Given the description of an element on the screen output the (x, y) to click on. 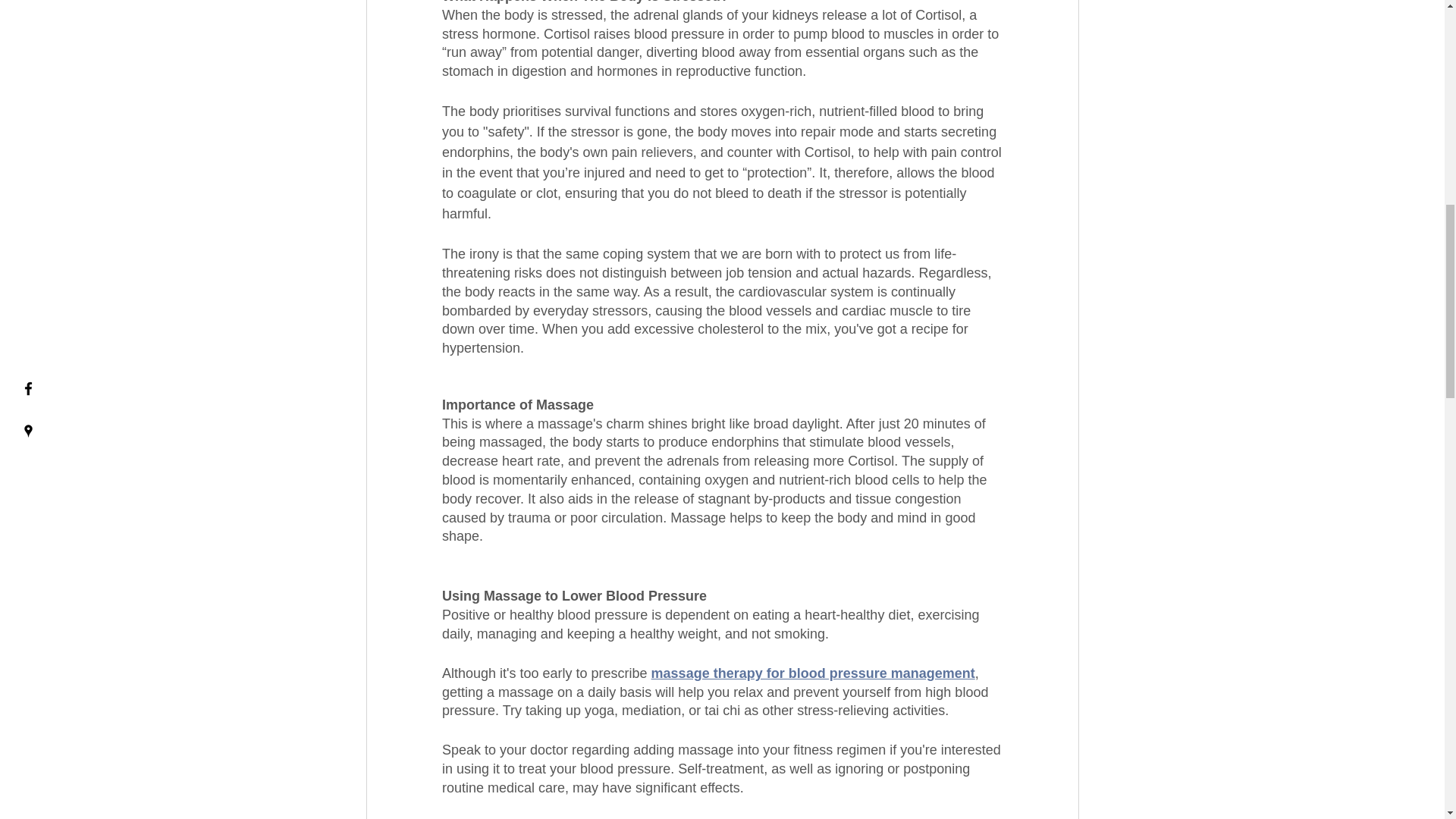
massage therapy for blood pressure management (812, 672)
